Given the description of an element on the screen output the (x, y) to click on. 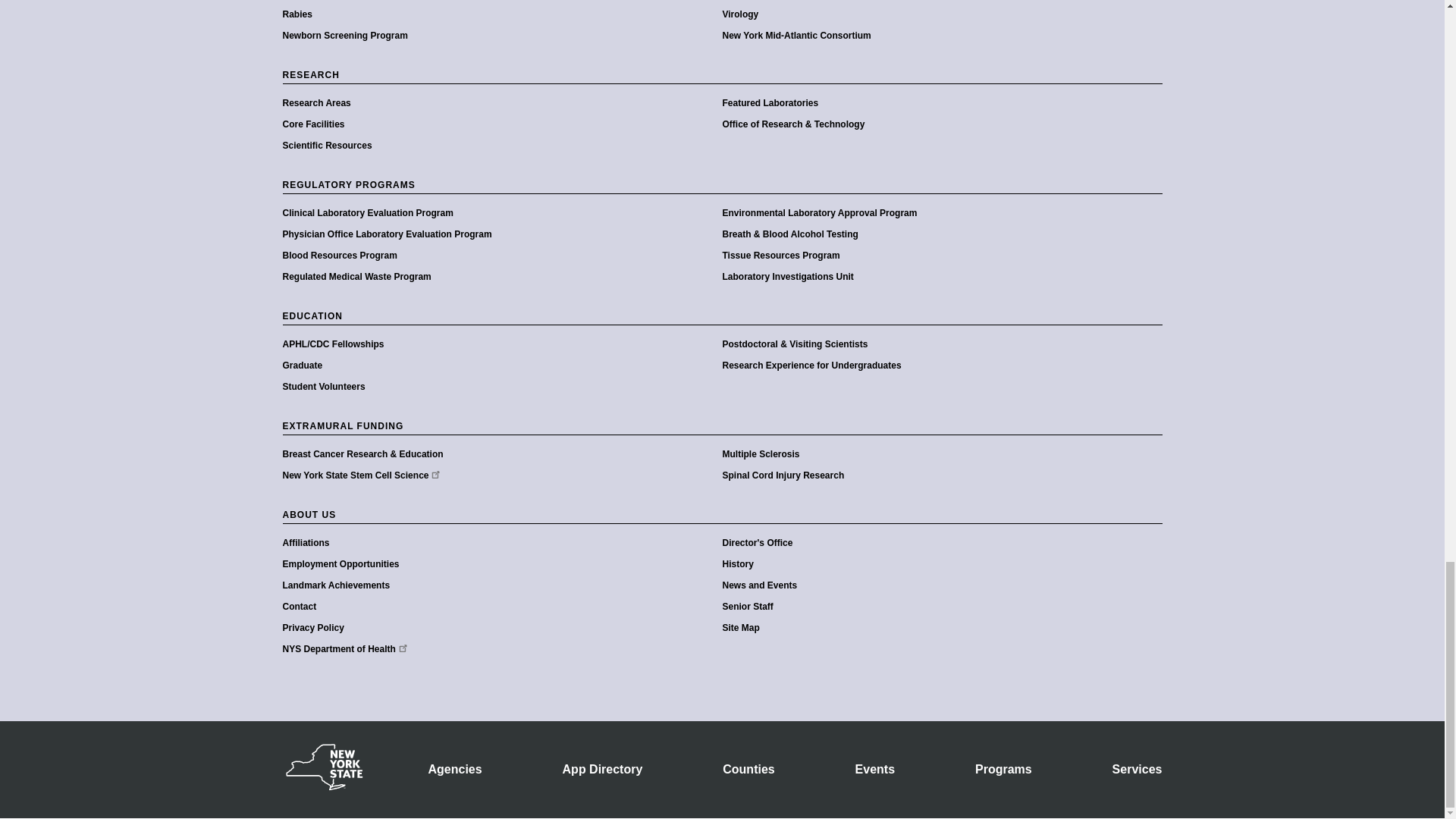
New York State Home (323, 787)
